Given the description of an element on the screen output the (x, y) to click on. 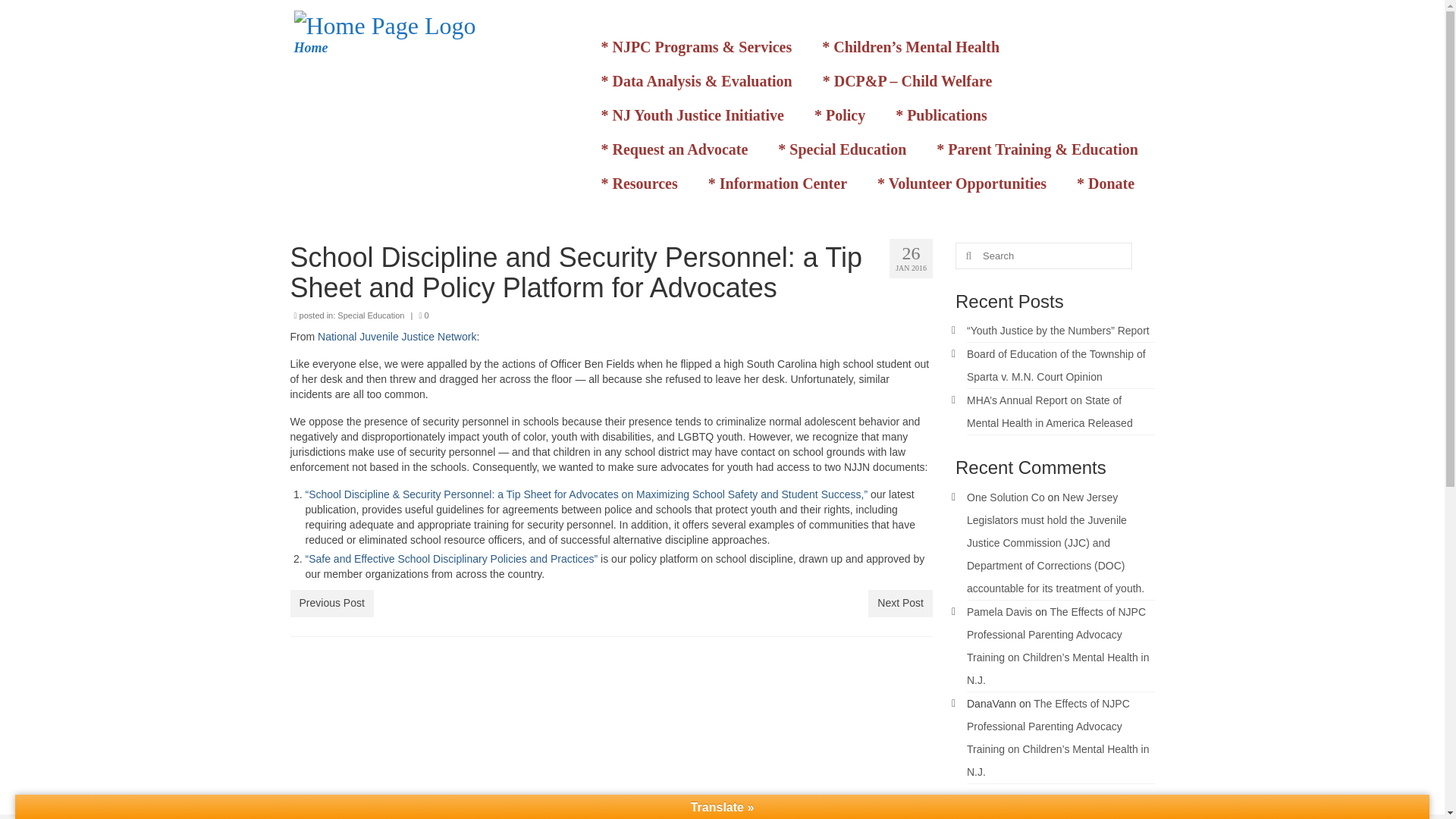
Special Education (370, 315)
One Solution Co (1005, 497)
Previous Post (330, 603)
Next Post (900, 603)
National Juvenile Justice Network (396, 336)
